Given the description of an element on the screen output the (x, y) to click on. 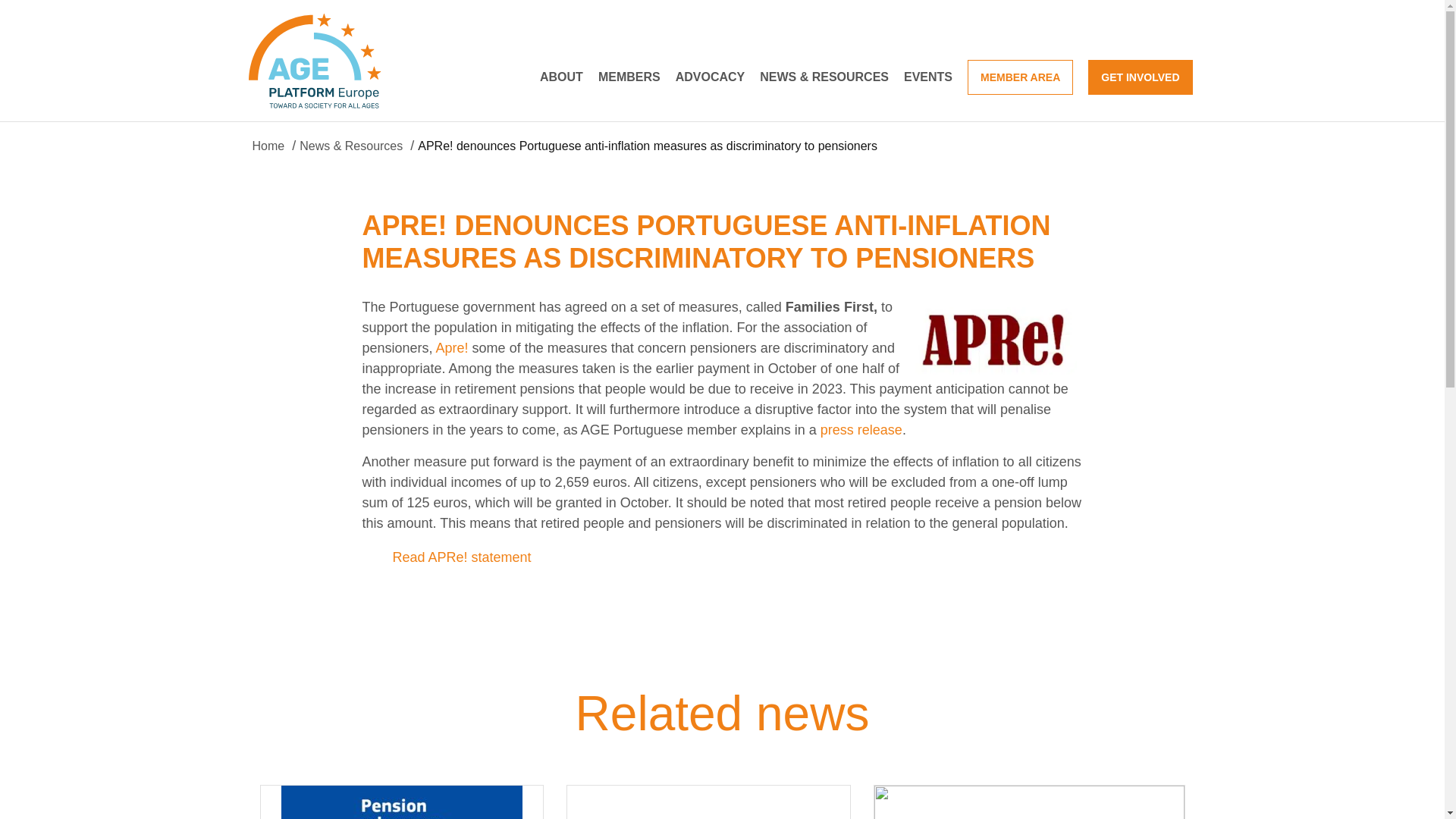
MEMBERS (629, 76)
press release (861, 429)
EVENTS (928, 76)
Apre! (451, 347)
MEMBER AREA (1020, 76)
Home (267, 145)
GET INVOLVED (1139, 76)
Read APRe! statement (462, 557)
ADVOCACY (710, 76)
ABOUT (561, 76)
